Given the description of an element on the screen output the (x, y) to click on. 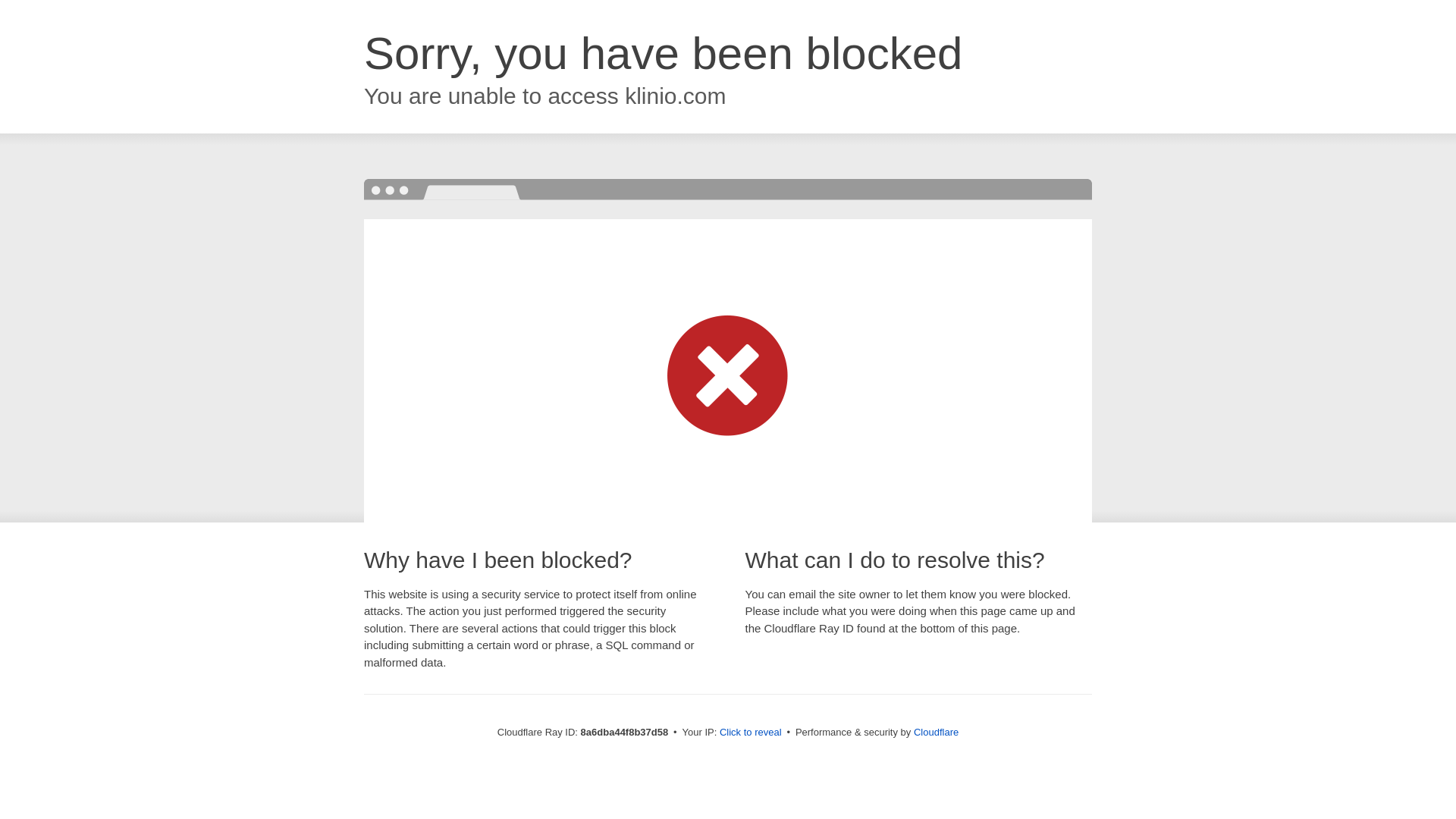
Cloudflare (936, 731)
Click to reveal (750, 732)
